Given the description of an element on the screen output the (x, y) to click on. 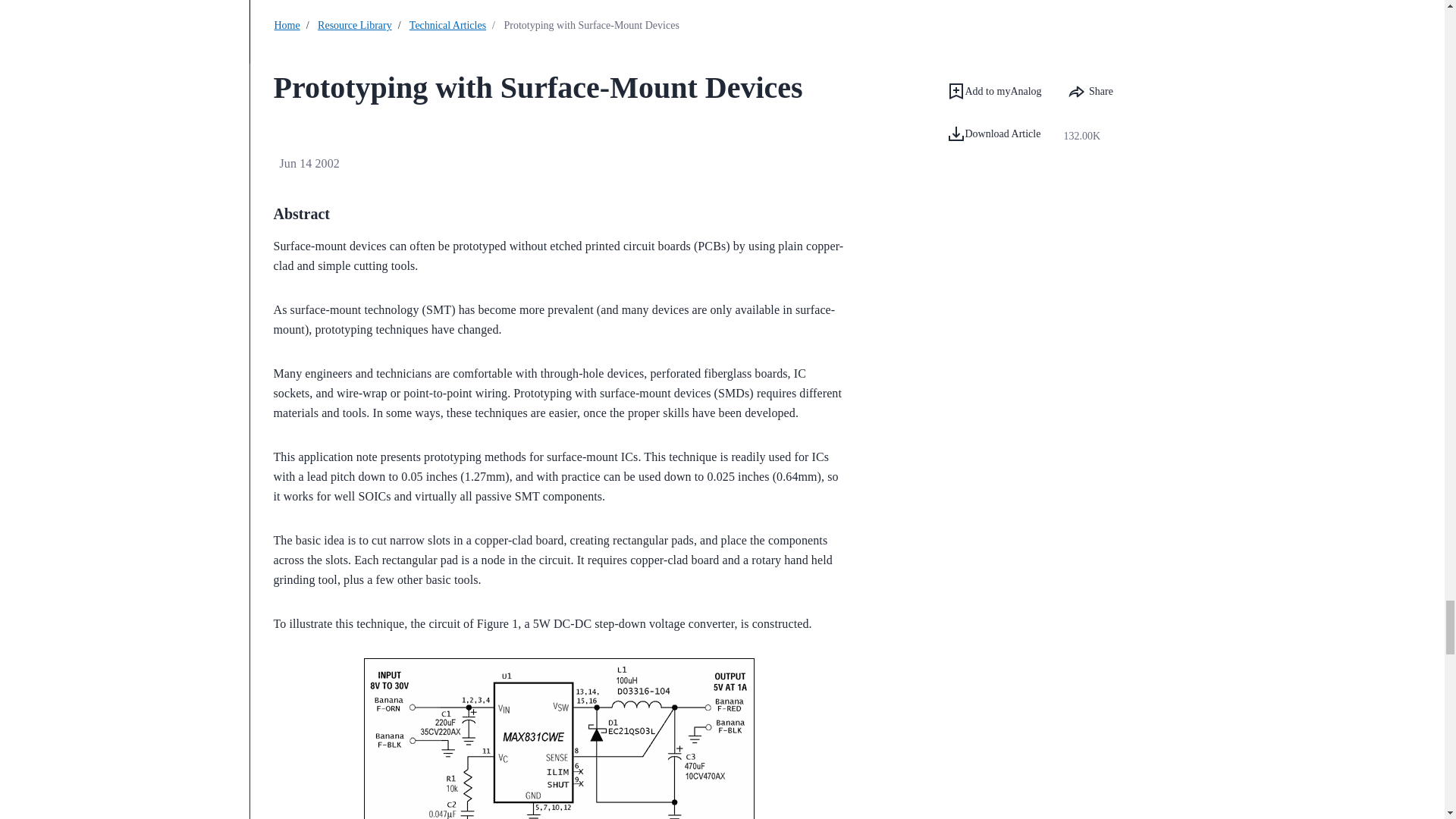
Technical Articles (447, 25)
Home (287, 25)
Resource Library (354, 25)
Share (1090, 91)
Add to myAnalog (993, 91)
Download Article (993, 134)
Download Article (1002, 136)
